Given the description of an element on the screen output the (x, y) to click on. 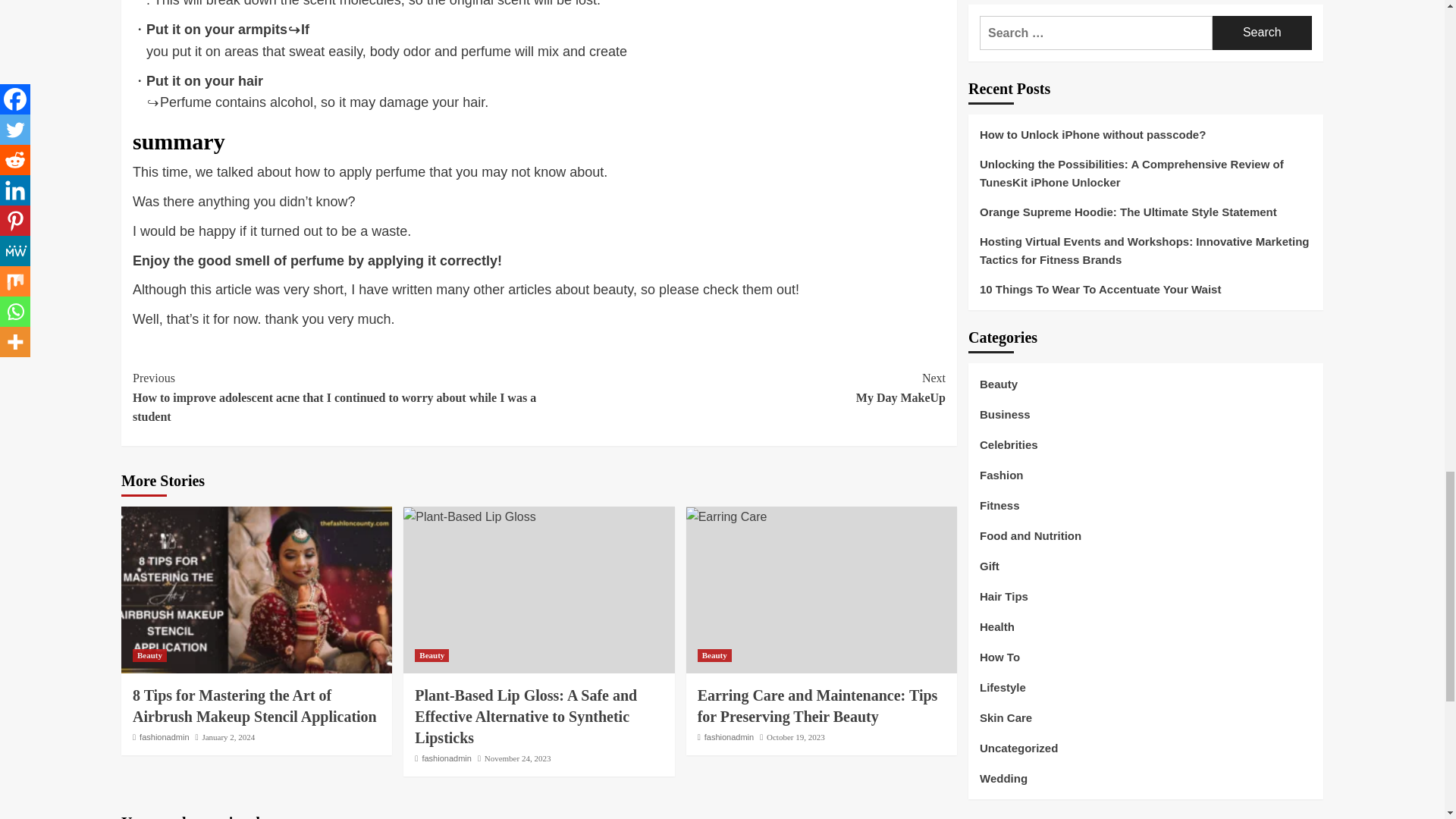
Beauty (149, 655)
Beauty (431, 655)
fashionadmin (741, 387)
January 2, 2024 (164, 737)
